Given the description of an element on the screen output the (x, y) to click on. 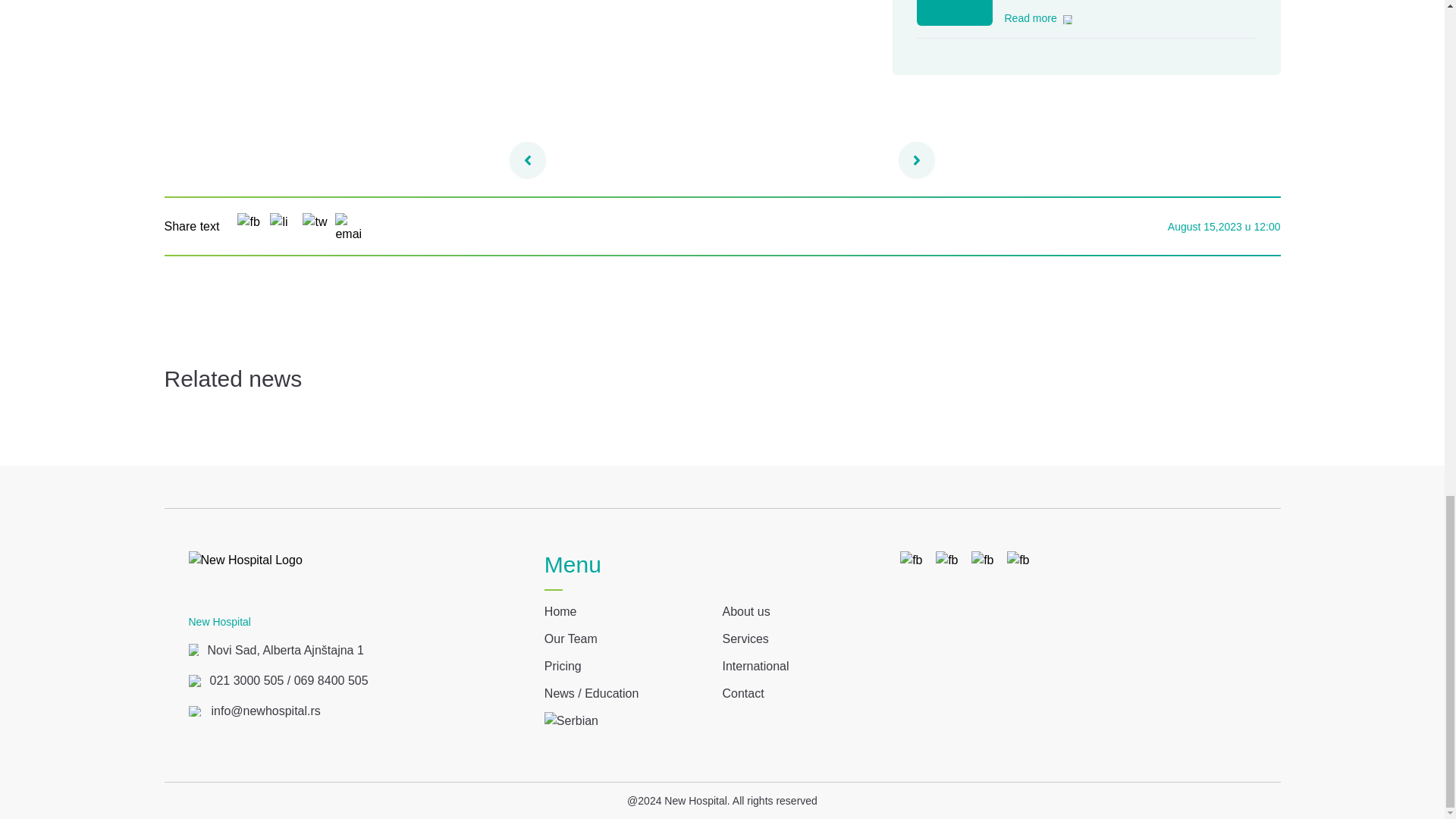
Services (745, 638)
About us (746, 611)
Our Team (570, 638)
Pricing (562, 666)
International (755, 666)
Home (560, 611)
Contact (742, 693)
